Given the description of an element on the screen output the (x, y) to click on. 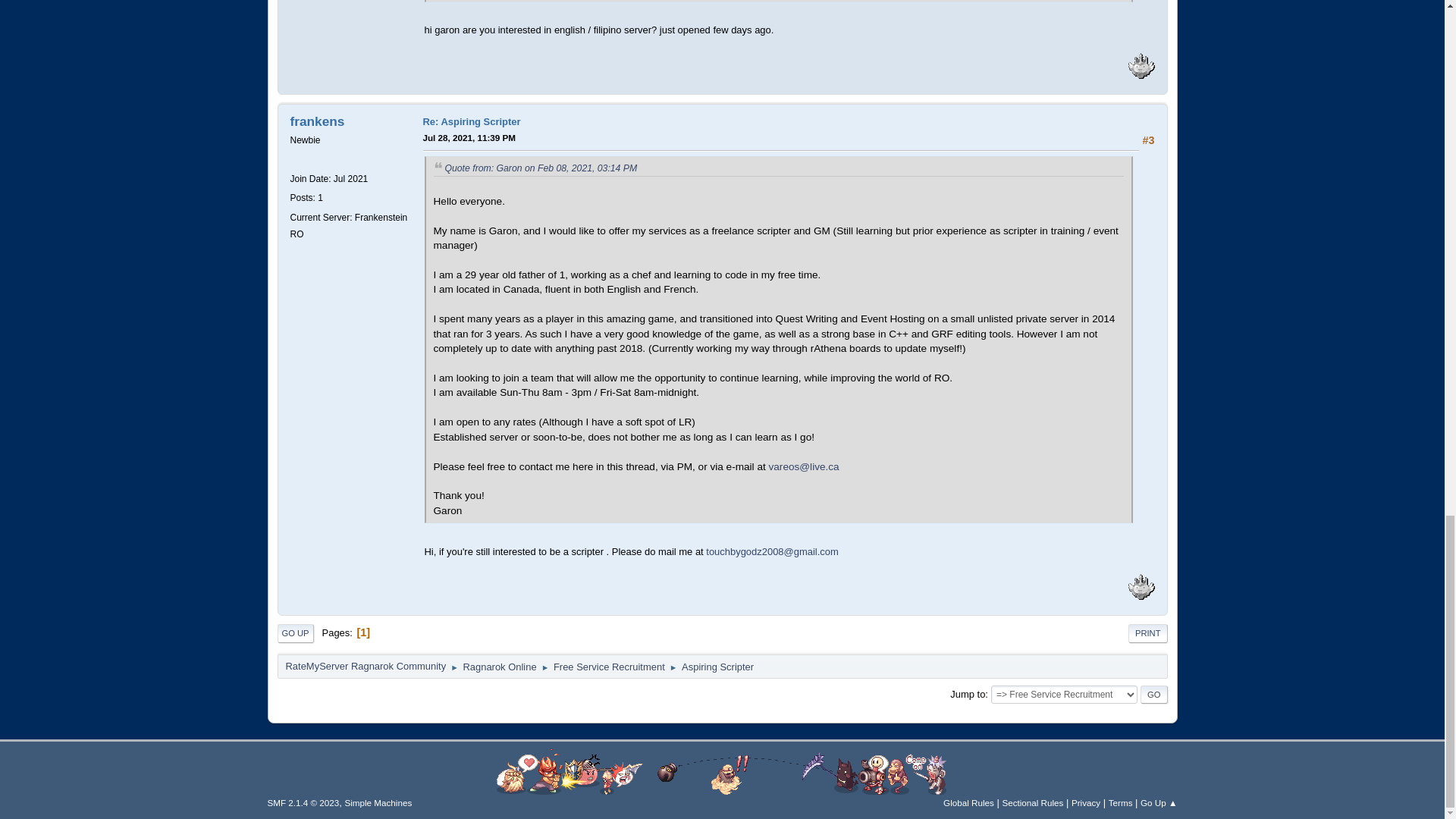
back to top (722, 771)
Simple Machines (377, 802)
Go (1153, 694)
View the profile of frankens (316, 120)
frankens (316, 120)
License (302, 802)
